Given the description of an element on the screen output the (x, y) to click on. 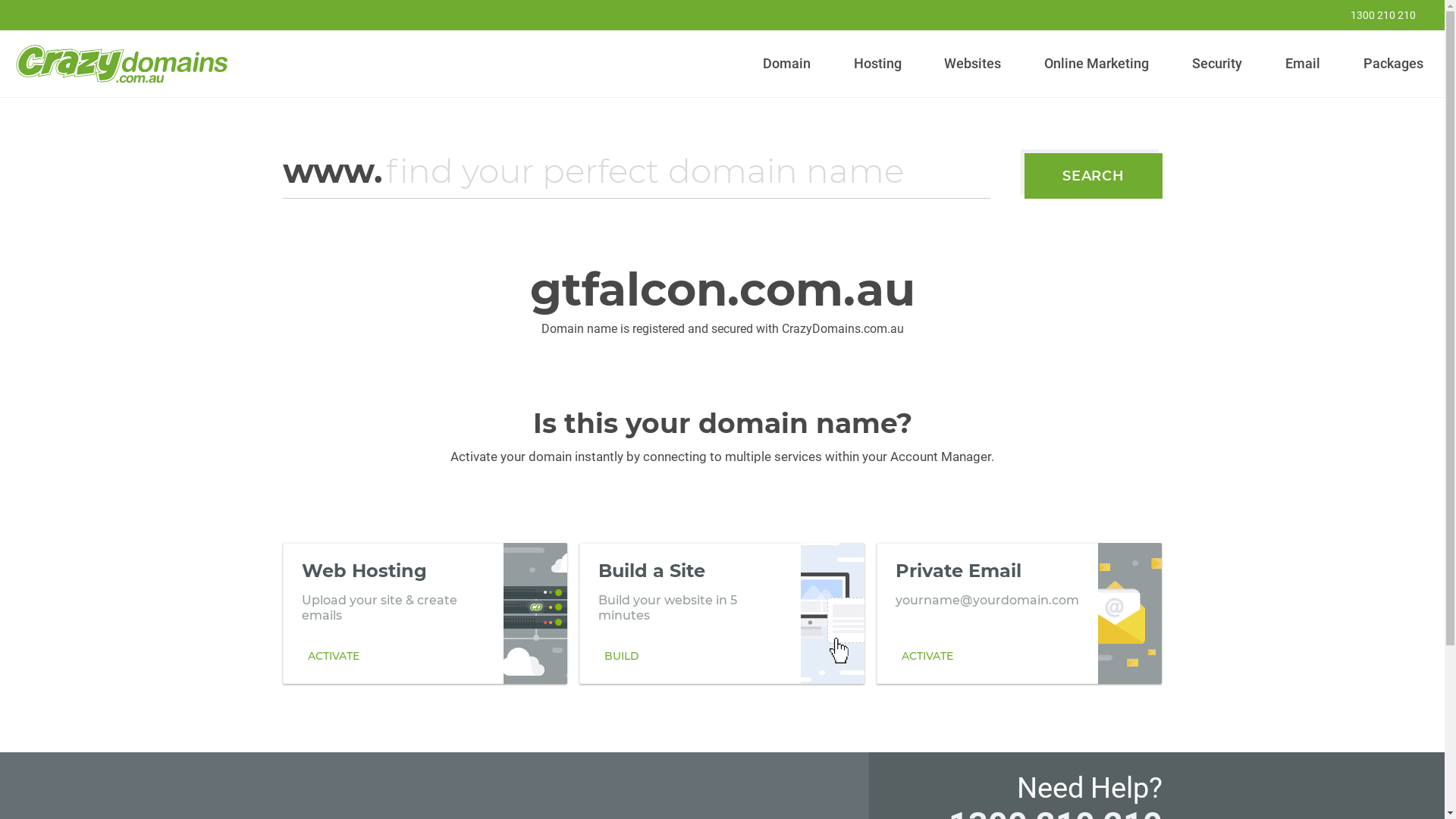
1300 210 210 Element type: text (1373, 15)
SEARCH Element type: text (1092, 175)
Hosting Element type: text (877, 63)
Security Element type: text (1217, 63)
Private Email
yourname@yourdomain.com
ACTIVATE Element type: text (1018, 613)
Websites Element type: text (972, 63)
Domain Element type: text (786, 63)
Email Element type: text (1302, 63)
Online Marketing Element type: text (1096, 63)
Build a Site
Build your website in 5 minutes
BUILD Element type: text (721, 613)
Web Hosting
Upload your site & create emails
ACTIVATE Element type: text (424, 613)
Packages Element type: text (1392, 63)
